Given the description of an element on the screen output the (x, y) to click on. 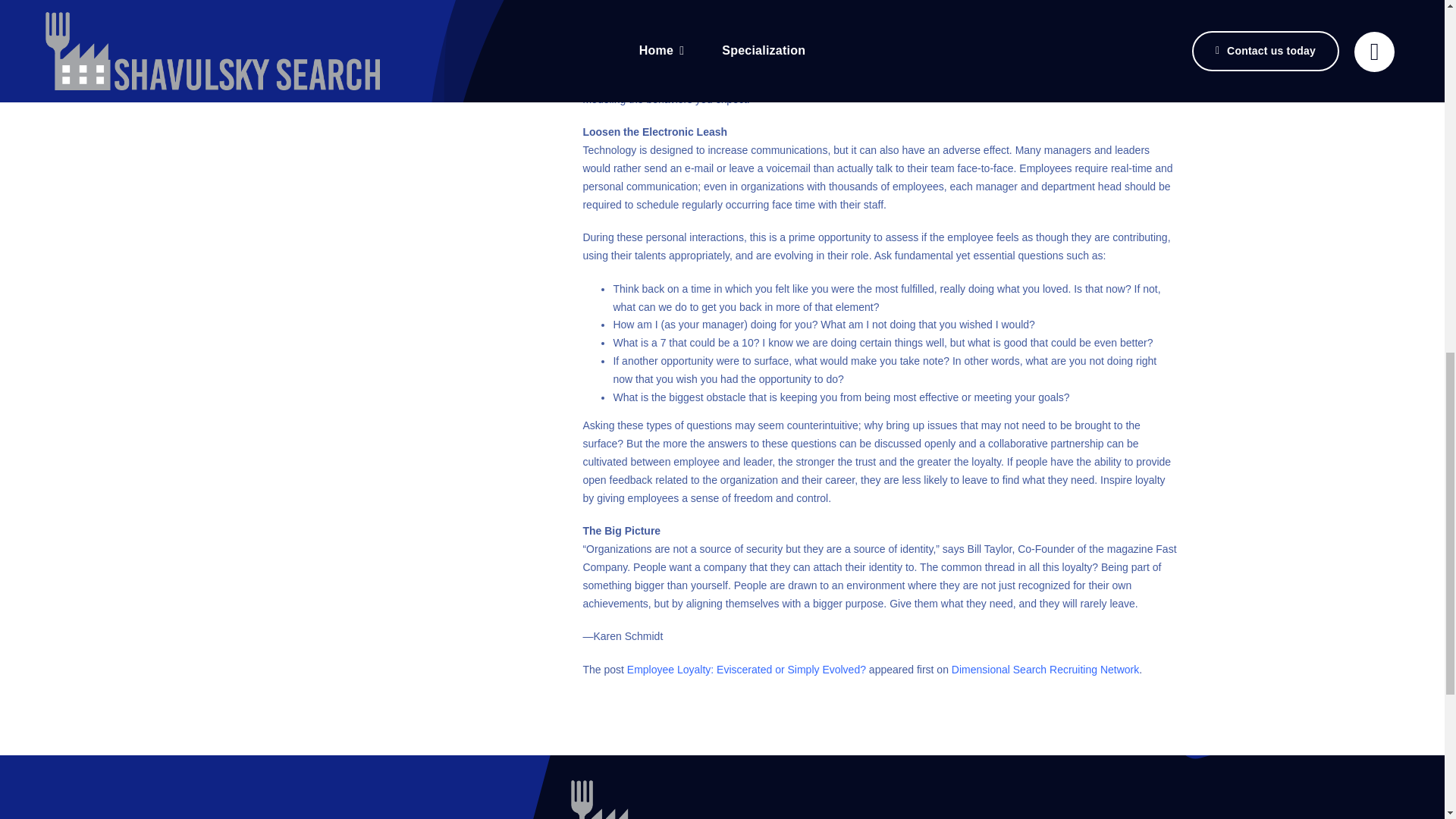
Employee Loyalty: Eviscerated or Simply Evolved? (746, 669)
Dimensional Search Recruiting Network (1045, 669)
